Given the description of an element on the screen output the (x, y) to click on. 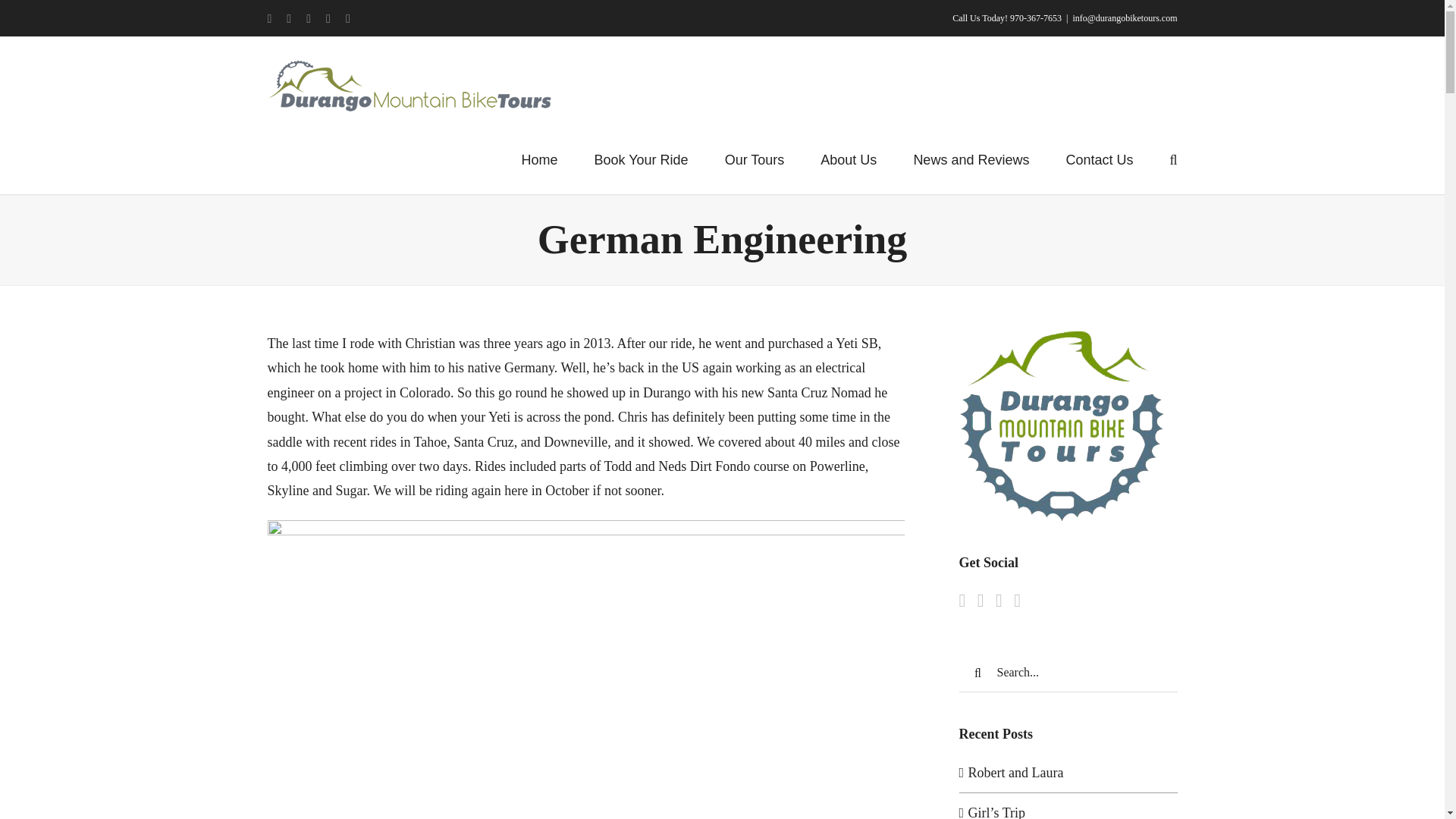
News and Reviews (970, 158)
Contact Us (1098, 158)
Book Your Ride (641, 158)
